Given the description of an element on the screen output the (x, y) to click on. 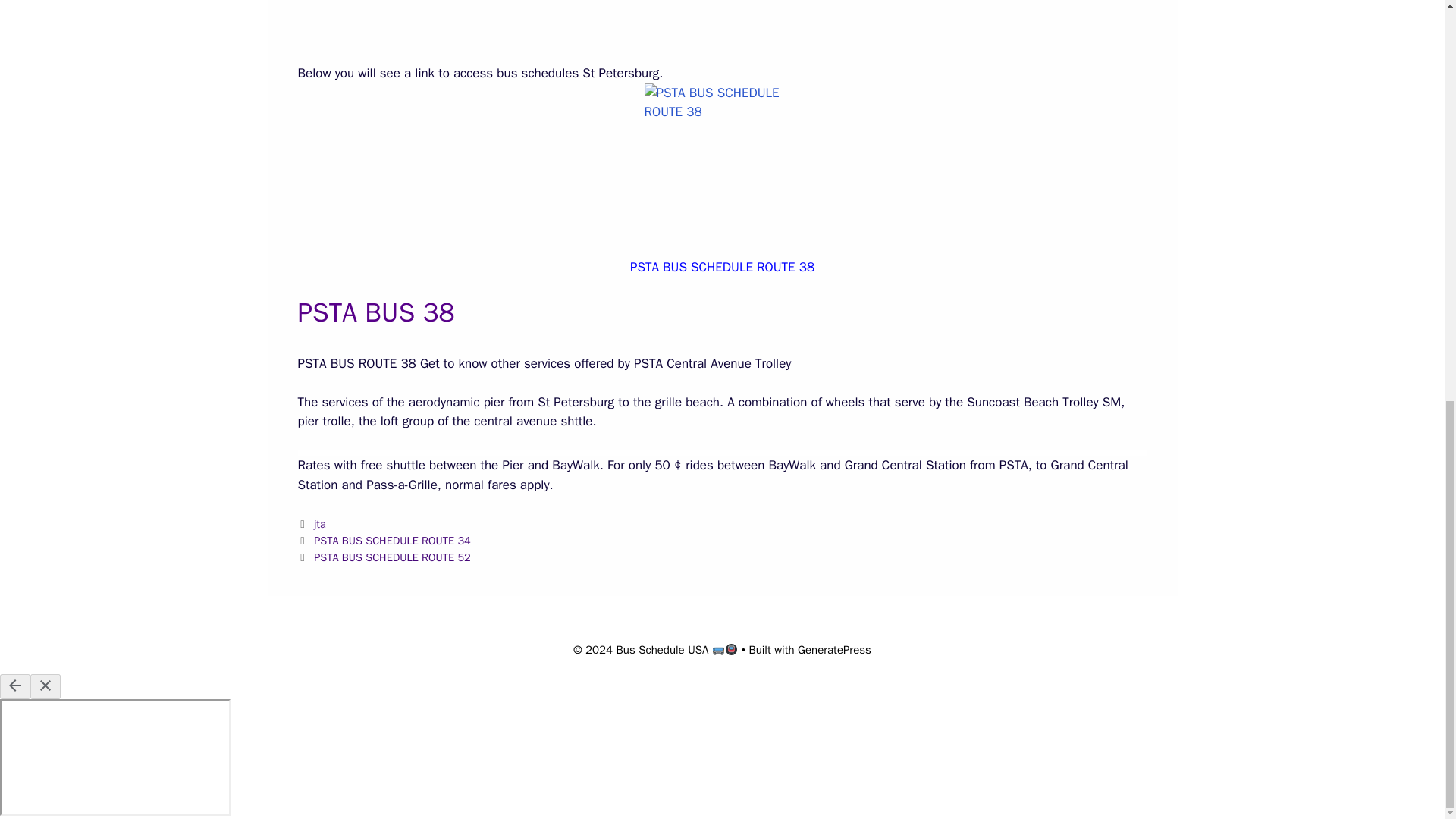
jta (320, 523)
PSTA BUS SCHEDULE ROUTE 52 (392, 557)
Advertisement (722, 28)
PSTA BUS SCHEDULE ROUTE 38 (721, 267)
PSTA BUS SCHEDULE ROUTE 34 (392, 540)
GeneratePress (833, 649)
